Given the description of an element on the screen output the (x, y) to click on. 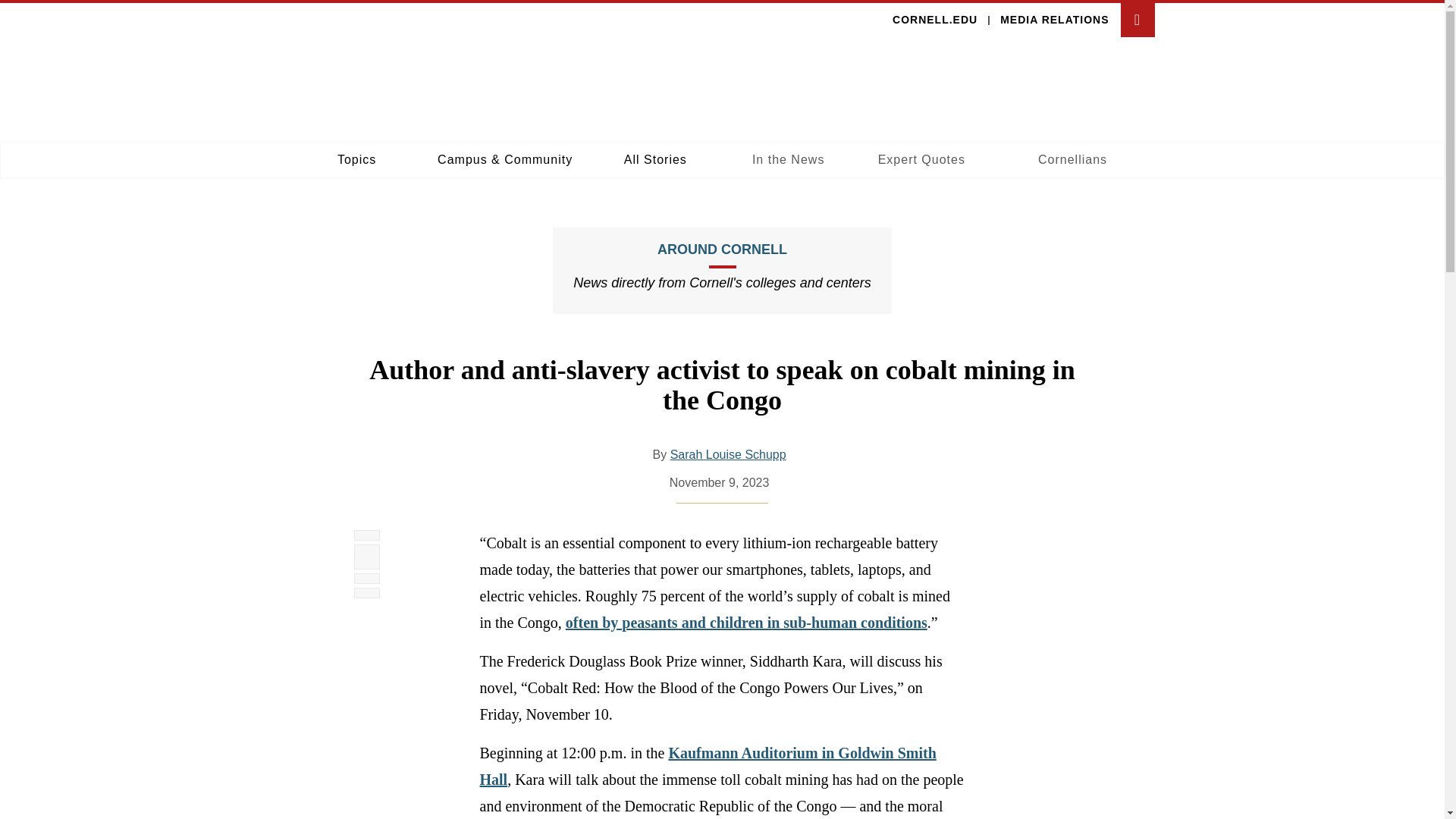
Topics (356, 159)
In the News (787, 159)
Cornell University (327, 87)
CORNELL.EDU (934, 19)
MEDIA RELATIONS (1053, 19)
All Stories (655, 159)
Cornell Chronicle (727, 454)
